Given the description of an element on the screen output the (x, y) to click on. 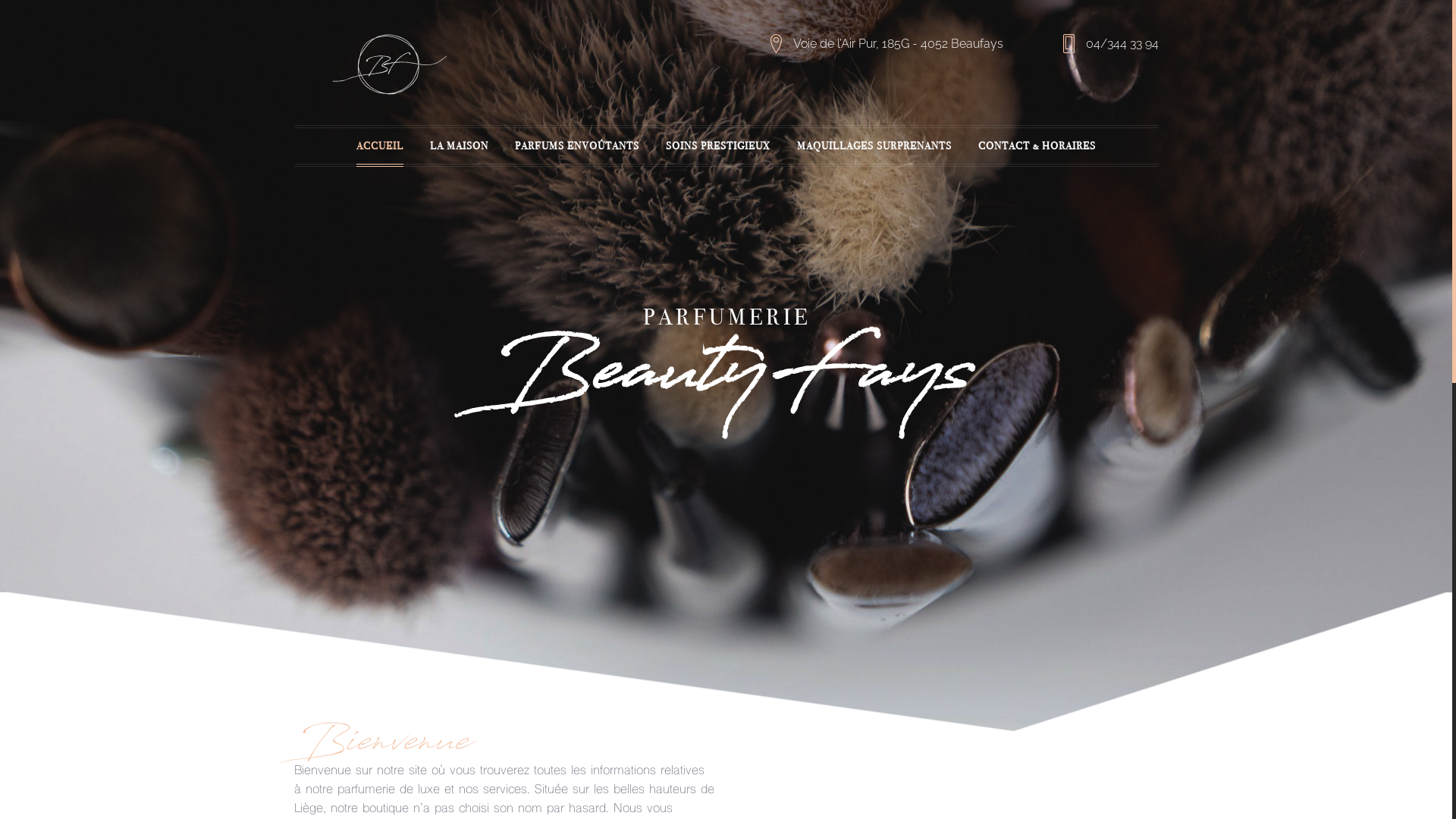
MAQUILLAGES SURPRENANTS Element type: text (874, 145)
SOINS PRESTIGIEUX Element type: text (717, 145)
LA MAISON Element type: text (458, 145)
CONTACT & HORAIRES Element type: text (1036, 145)
ACCUEIL Element type: text (379, 145)
04/344 33 94 Element type: text (1121, 43)
